Given the description of an element on the screen output the (x, y) to click on. 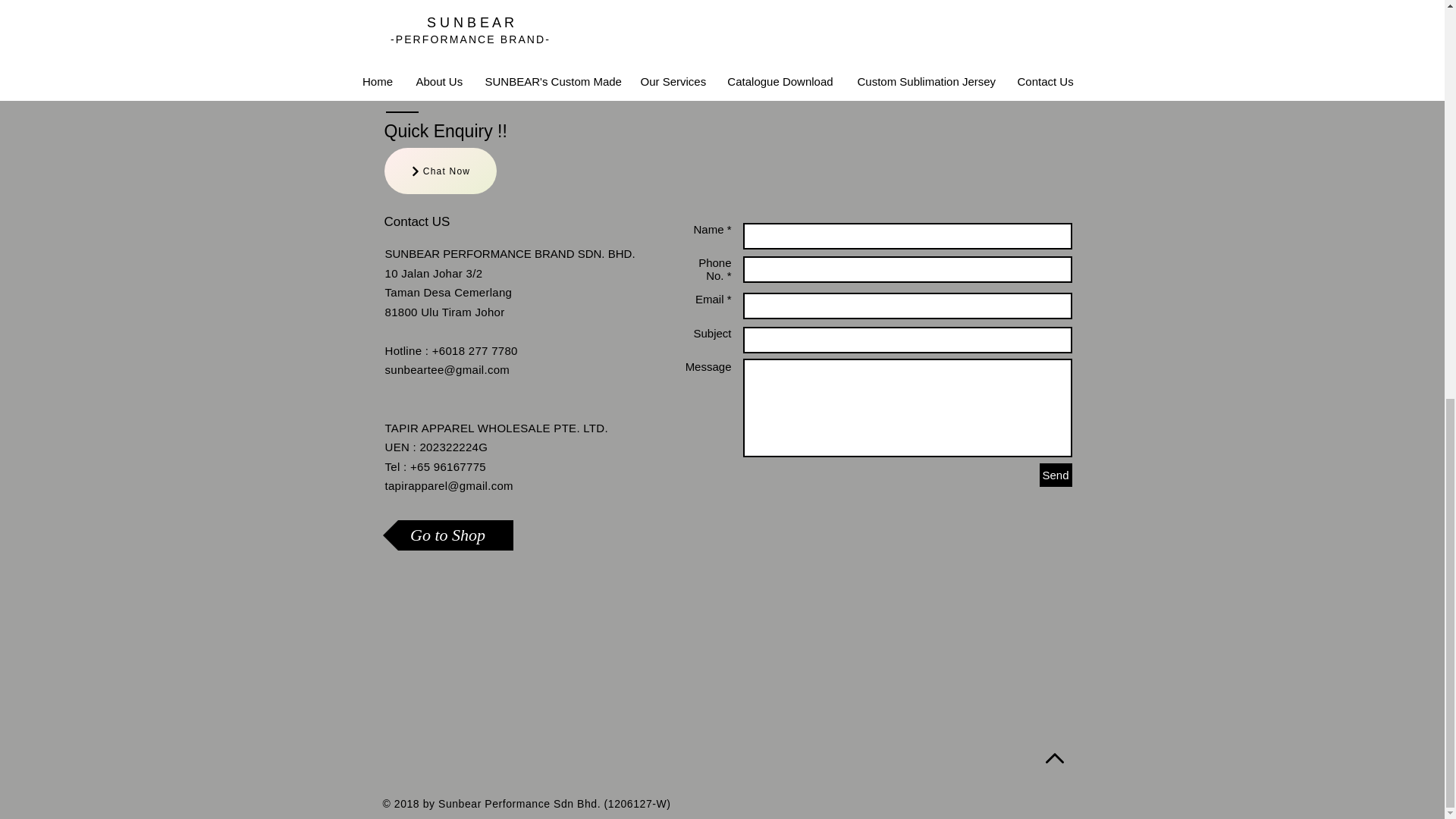
Go to Shop (446, 535)
Chat Now (440, 171)
Send (1055, 474)
